Given the description of an element on the screen output the (x, y) to click on. 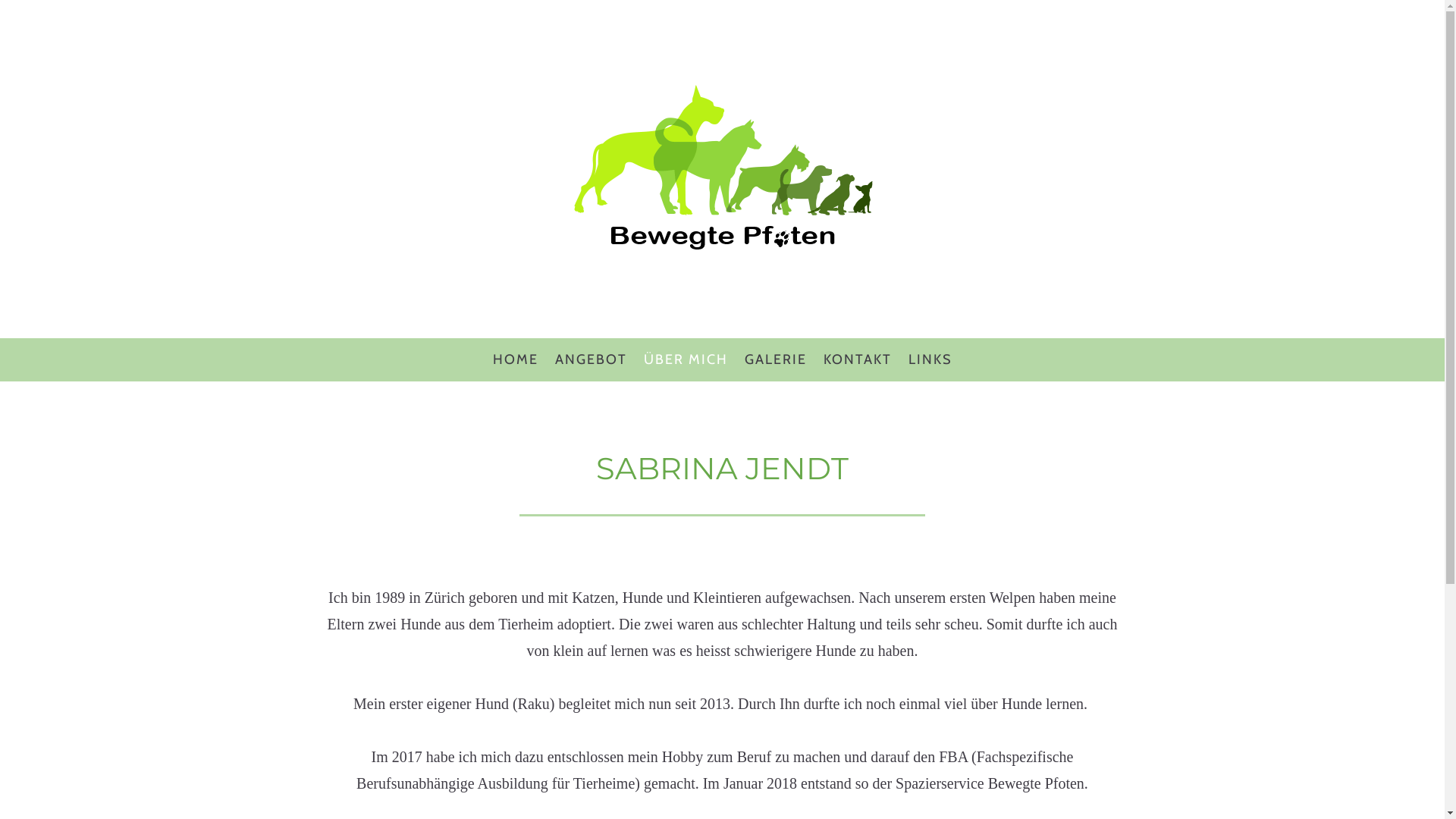
KONTAKT Element type: text (856, 359)
HOME Element type: text (514, 359)
LINKS Element type: text (929, 359)
ANGEBOT Element type: text (590, 359)
GALERIE Element type: text (774, 359)
